Given the description of an element on the screen output the (x, y) to click on. 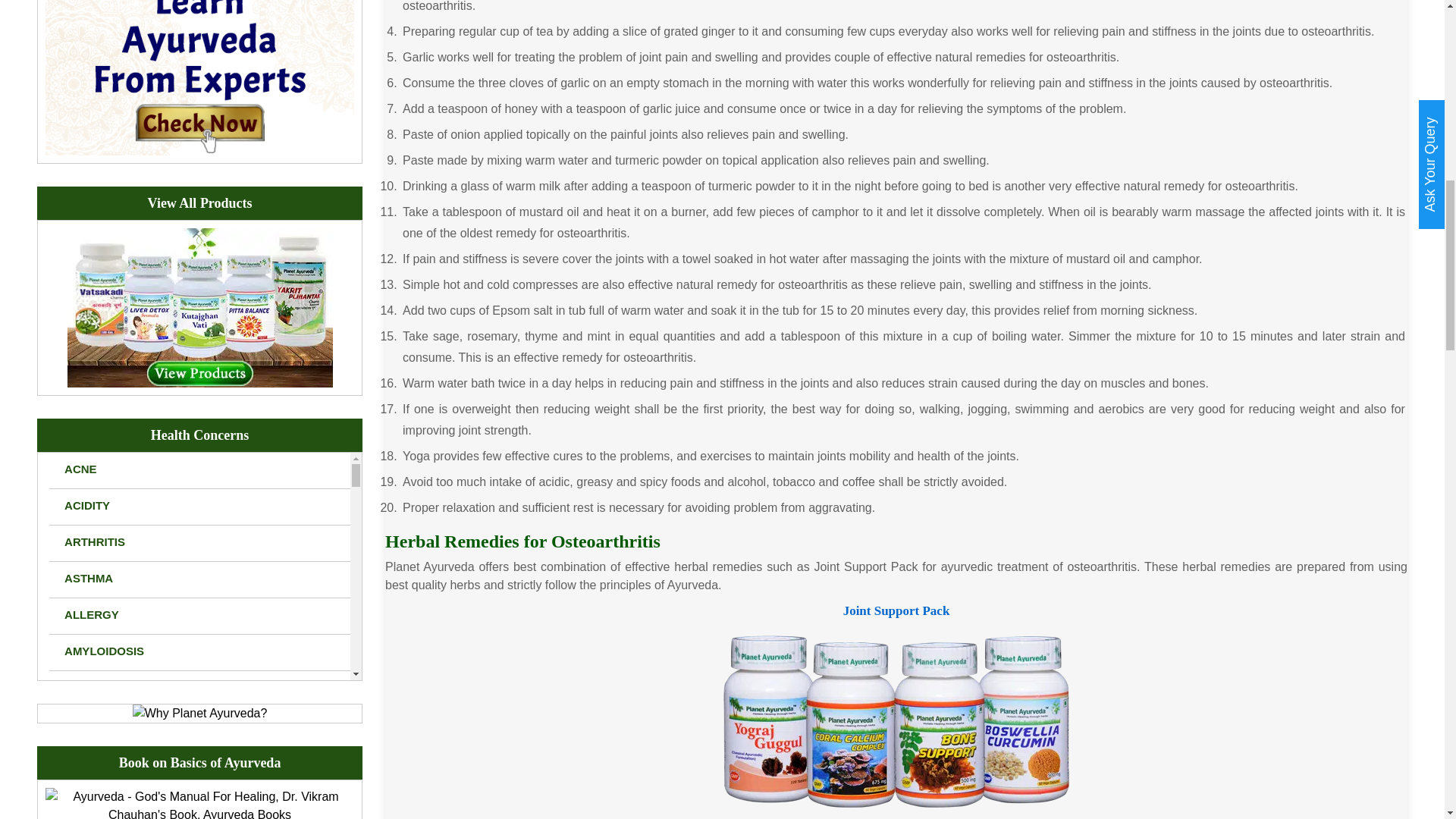
Ayurveda medcines and Herbal Store (199, 306)
Joint Support Pack (896, 720)
Why Planet Ayurveda? (199, 713)
